Given the description of an element on the screen output the (x, y) to click on. 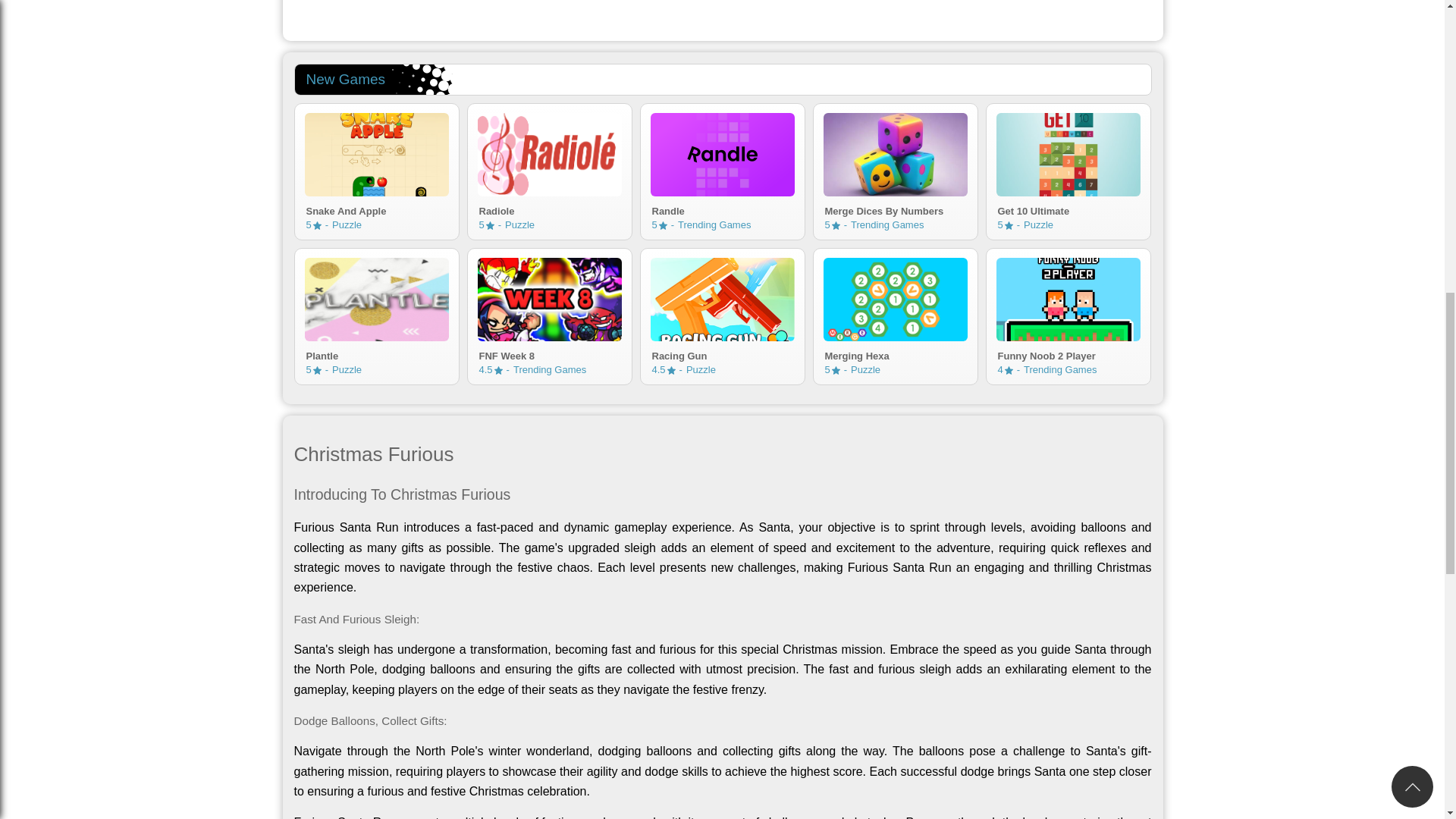
Snake And Apple (1067, 209)
numrate (896, 209)
New Games (549, 209)
Radiole (376, 154)
numrate (317, 225)
